Given the description of an element on the screen output the (x, y) to click on. 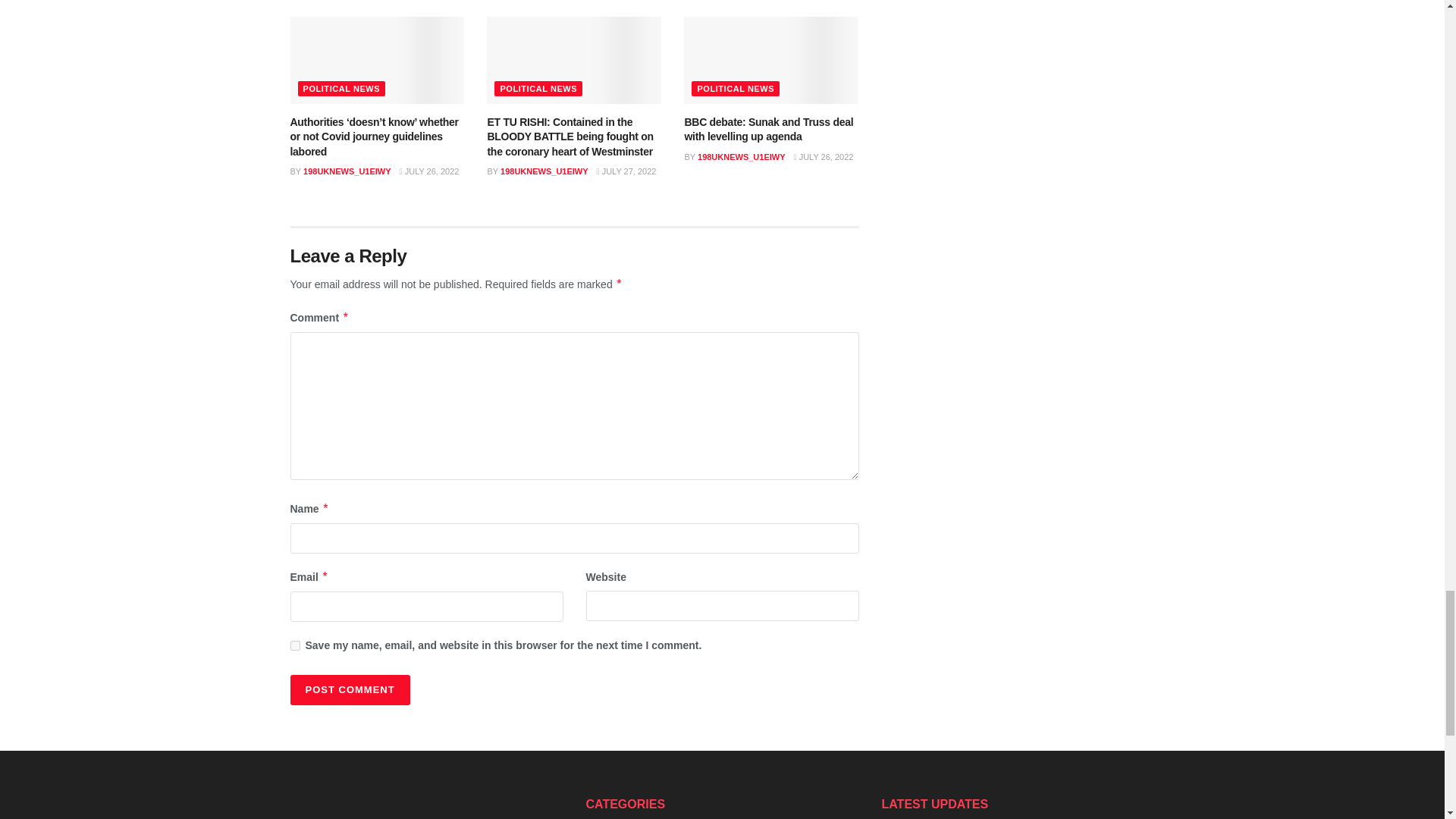
Post Comment (349, 689)
yes (294, 645)
